Given the description of an element on the screen output the (x, y) to click on. 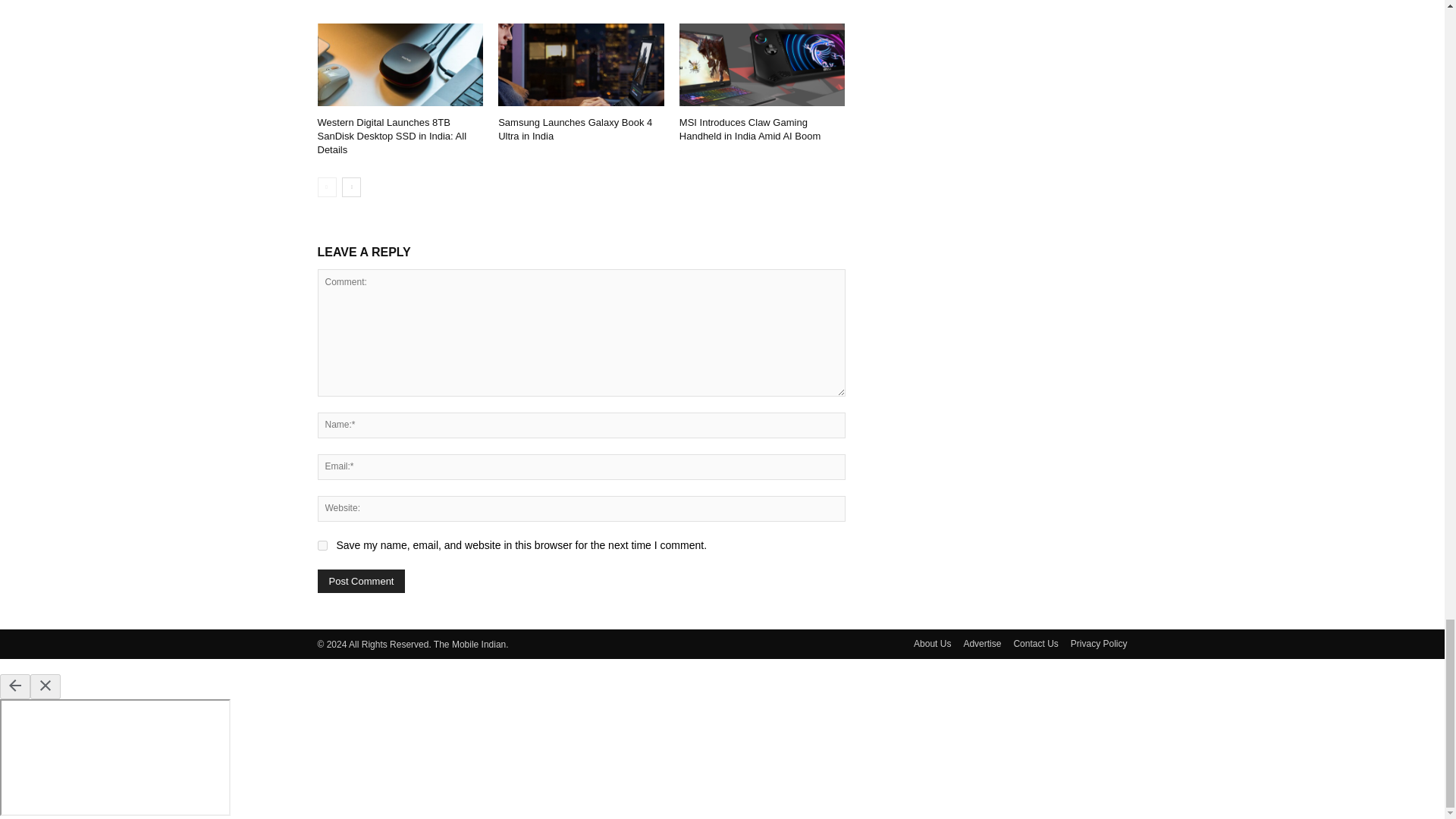
yes (321, 545)
Post Comment (360, 580)
